Given the description of an element on the screen output the (x, y) to click on. 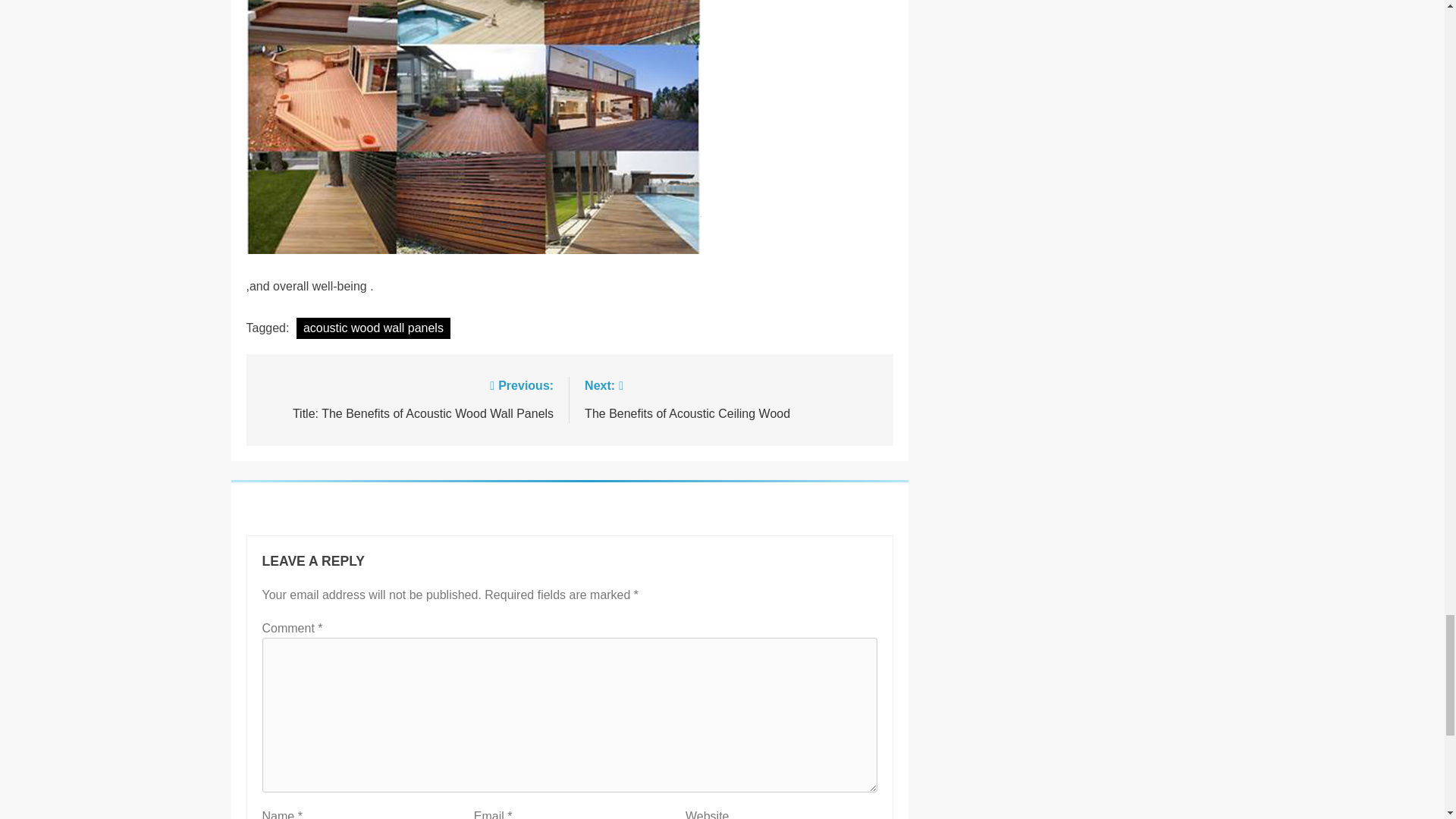
acoustic wood wall panels (406, 398)
